Given the description of an element on the screen output the (x, y) to click on. 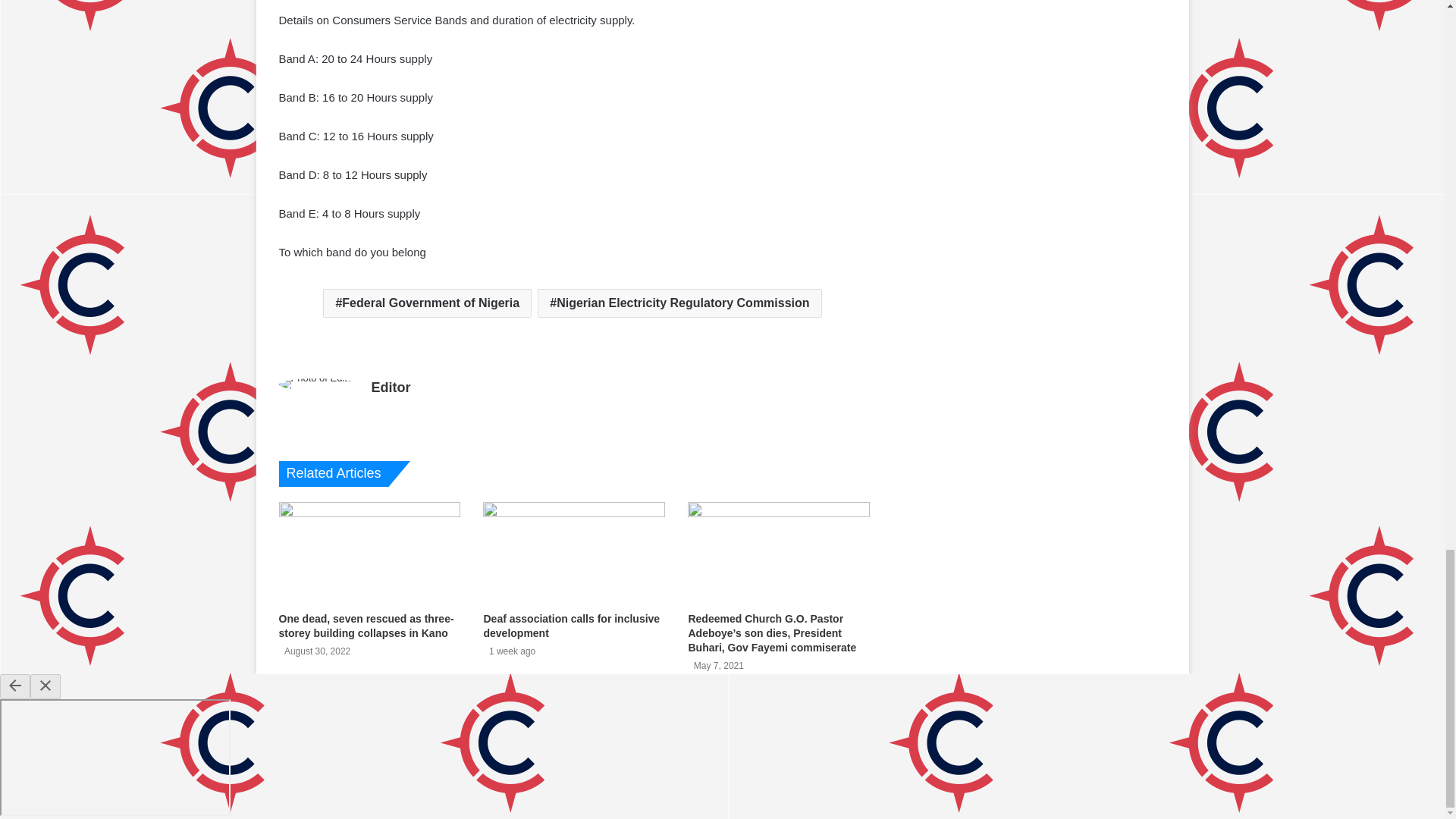
Federal Government of Nigeria (427, 303)
